Given the description of an element on the screen output the (x, y) to click on. 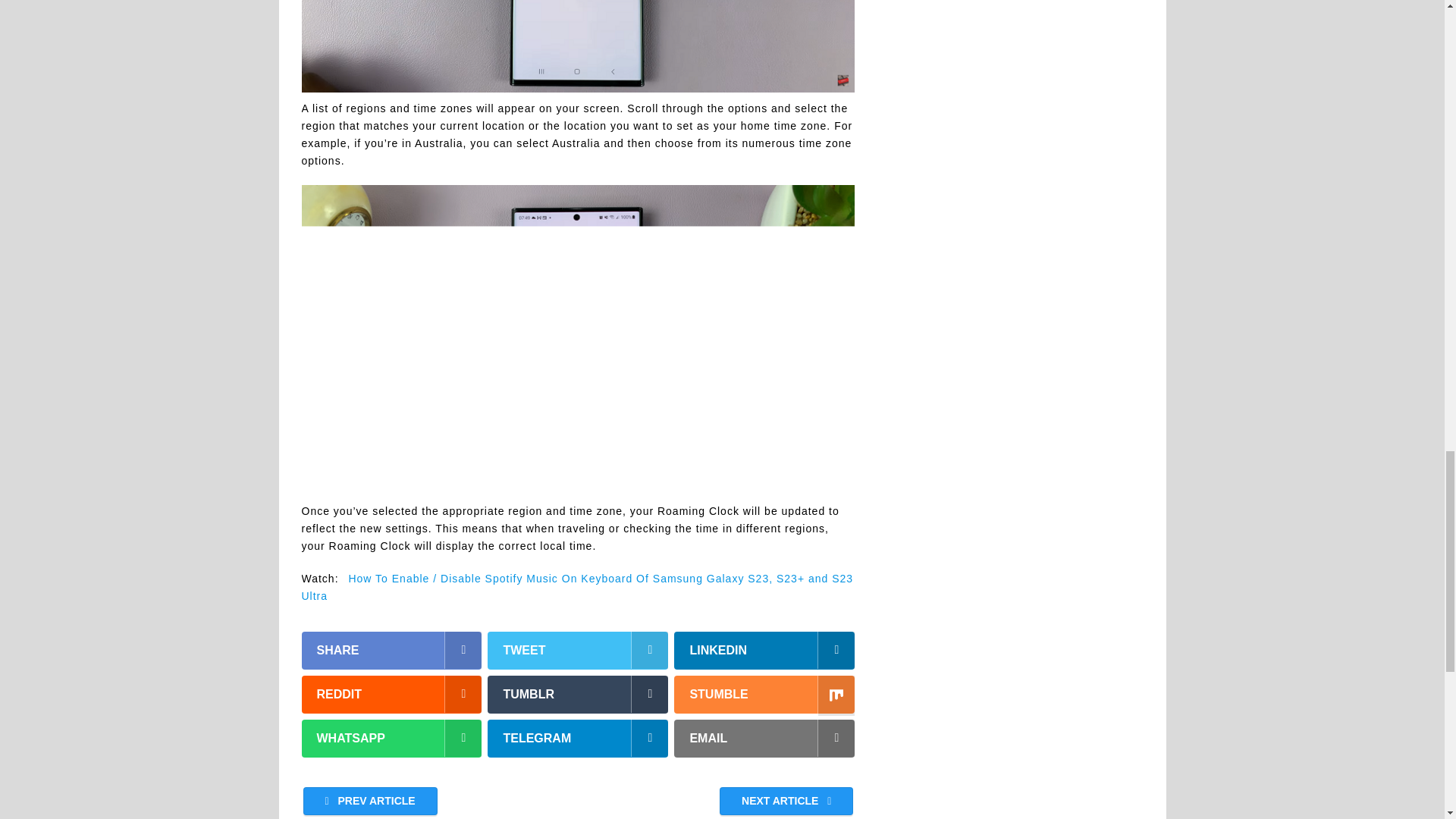
STUMBLE (764, 694)
SHARE (391, 650)
TELEGRAM (577, 738)
EMAIL (764, 738)
NEXT ARTICLE (786, 800)
WHATSAPP (391, 738)
PREV ARTICLE (370, 800)
TUMBLR (577, 694)
TWEET (577, 650)
REDDIT (391, 694)
LINKEDIN (764, 650)
